Given the description of an element on the screen output the (x, y) to click on. 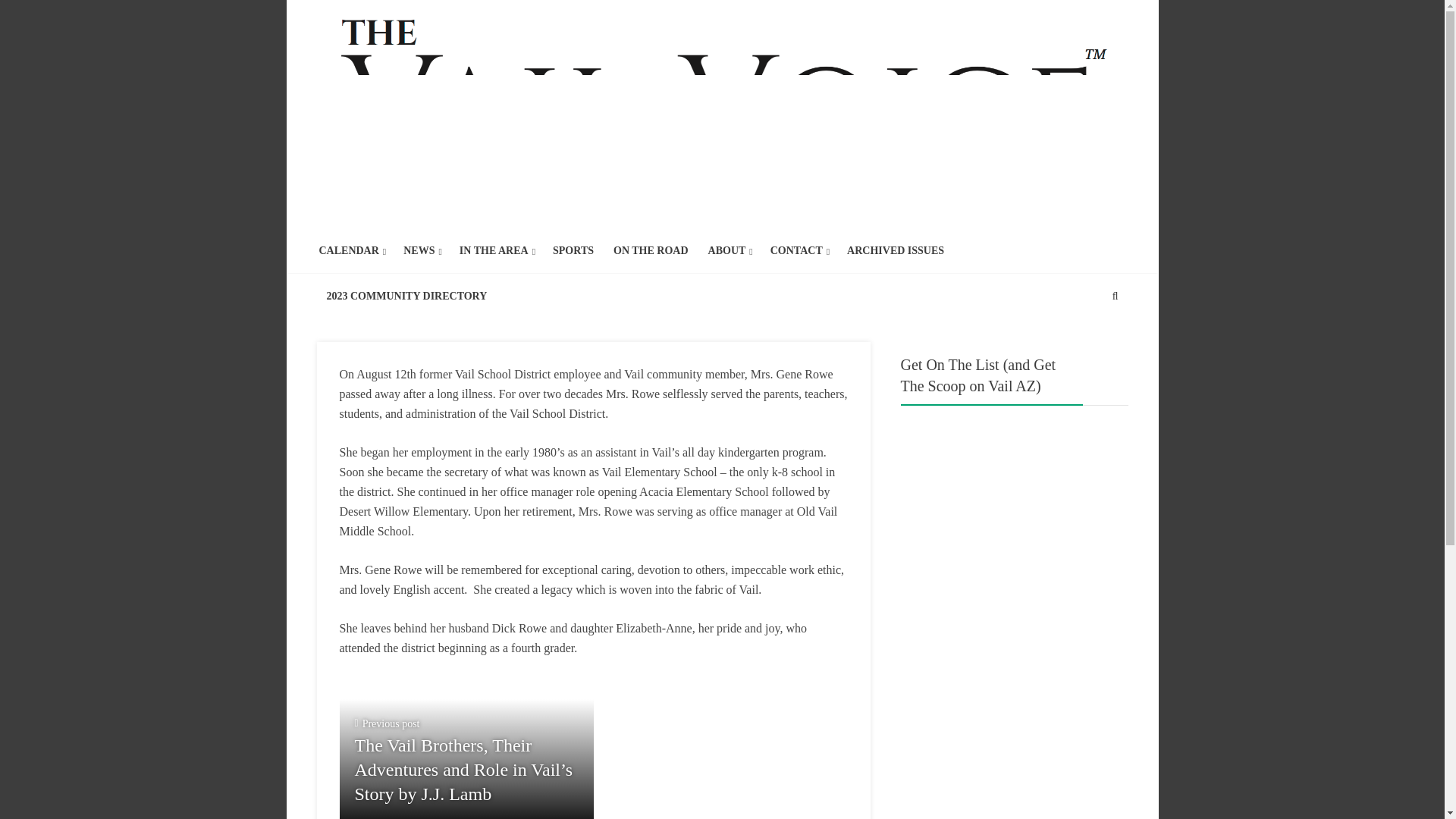
CONTACT (796, 250)
SPORTS (572, 250)
2023 COMMUNITY DIRECTORY (406, 296)
IN THE AREA (494, 250)
ABOUT (727, 250)
ARCHIVED ISSUES (895, 250)
CALENDAR (349, 250)
ON THE ROAD (650, 250)
The Vail Voice (722, 116)
